Given the description of an element on the screen output the (x, y) to click on. 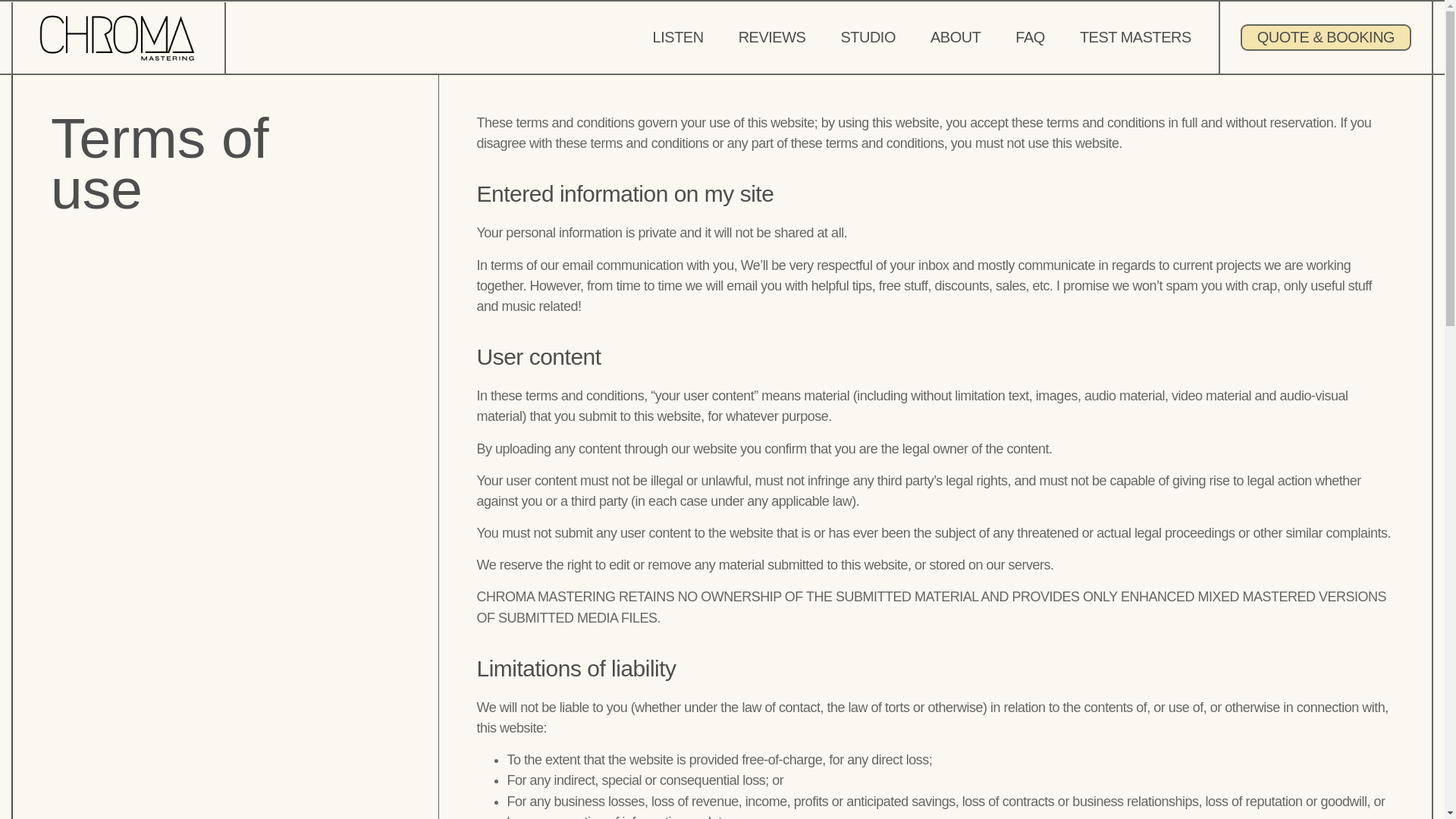
FAQ (1030, 37)
LISTEN (678, 37)
TEST MASTERS (1135, 37)
STUDIO (867, 37)
ABOUT (955, 37)
REVIEWS (772, 37)
